Given the description of an element on the screen output the (x, y) to click on. 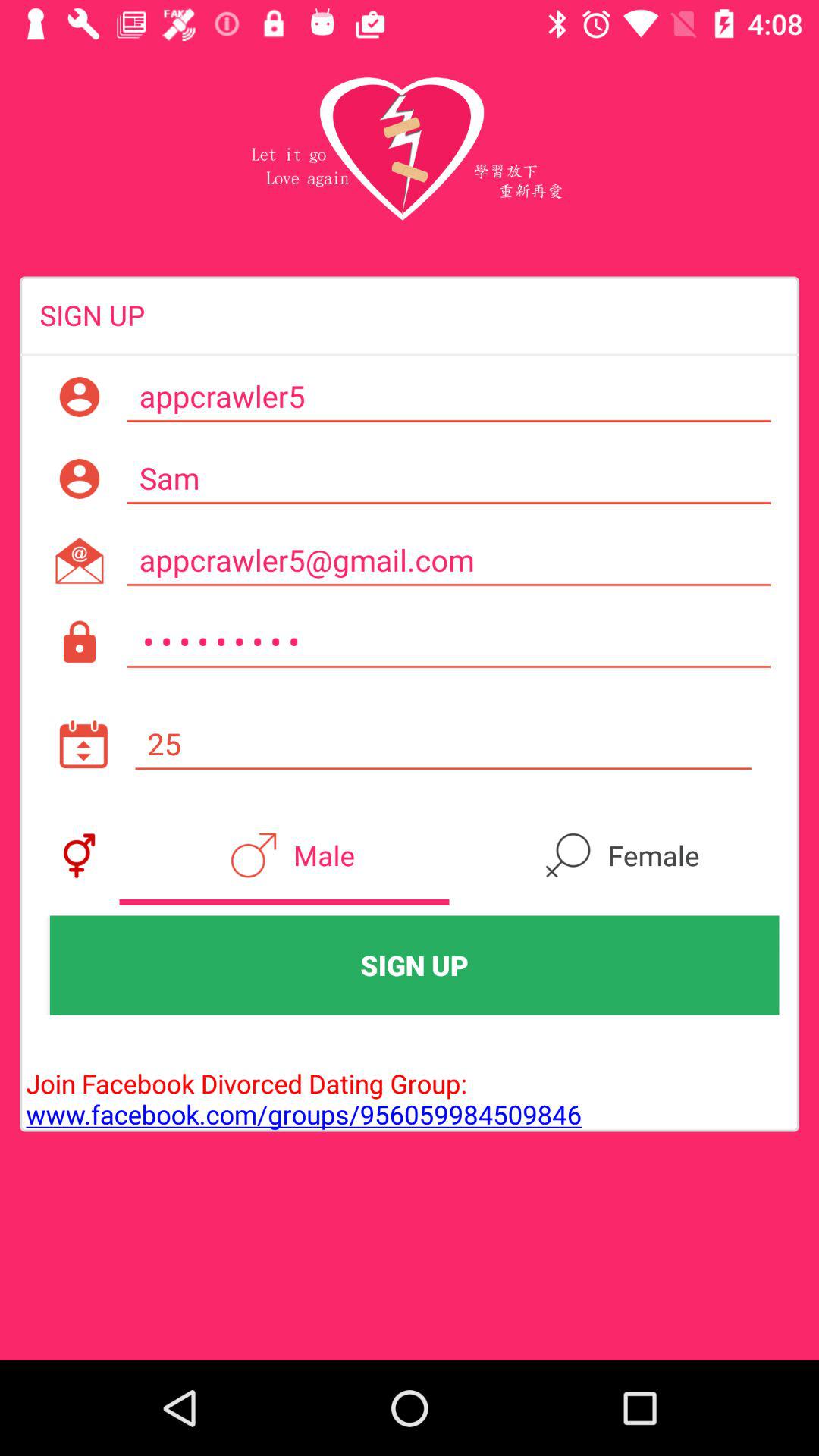
tap icon below sign up icon (300, 1083)
